Given the description of an element on the screen output the (x, y) to click on. 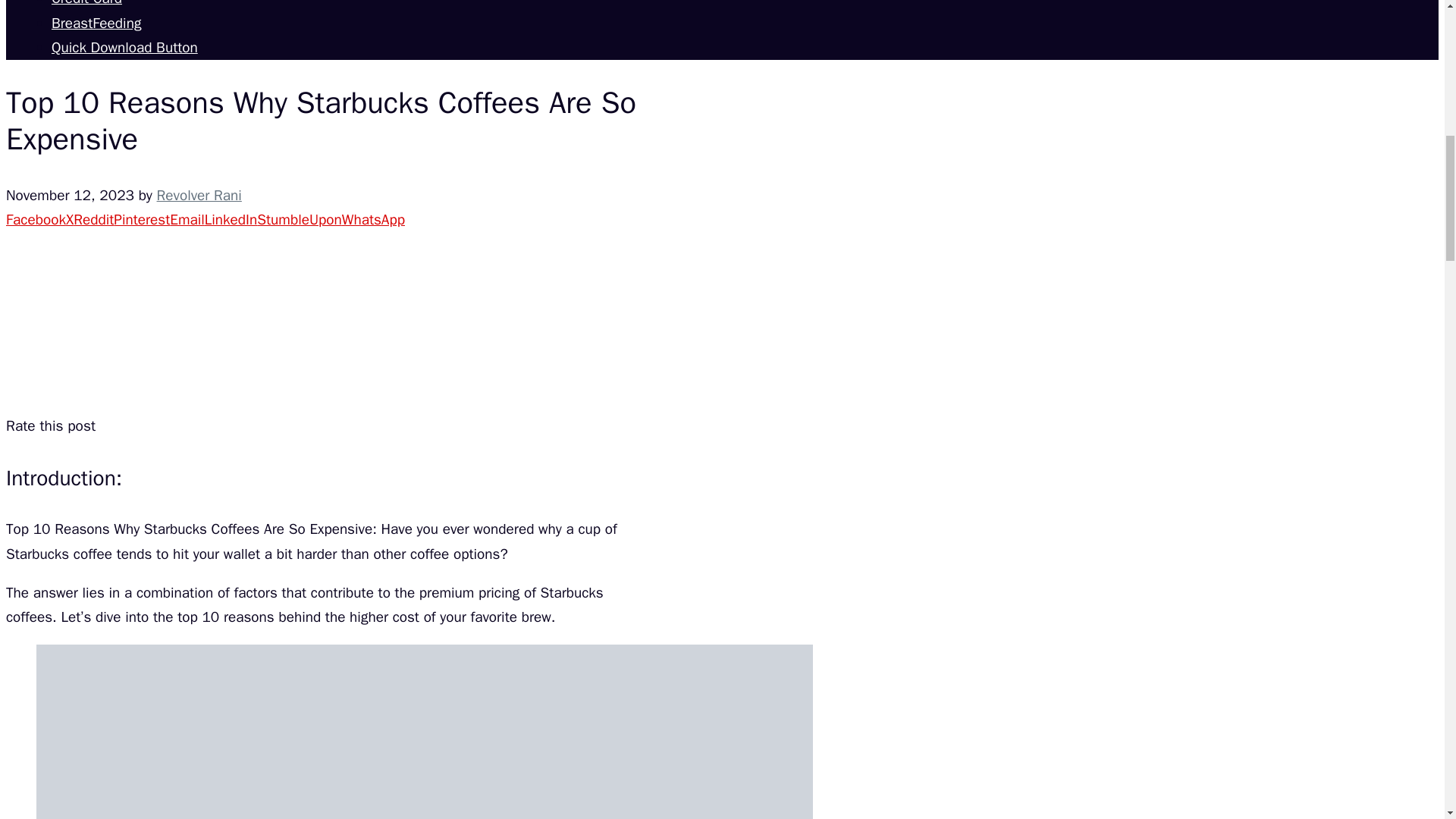
Scroll back to top (1406, 720)
View all posts by Revolver Rani (199, 195)
BreastFeeding (95, 23)
Credit Card (86, 3)
Pinterest (141, 219)
LinkedIn (231, 219)
StumbleUpon (299, 219)
WhatsApp (373, 219)
Facebook (35, 219)
Reddit (93, 219)
Quick Download Button (124, 47)
Email (187, 219)
Revolver Rani (199, 195)
